Given the description of an element on the screen output the (x, y) to click on. 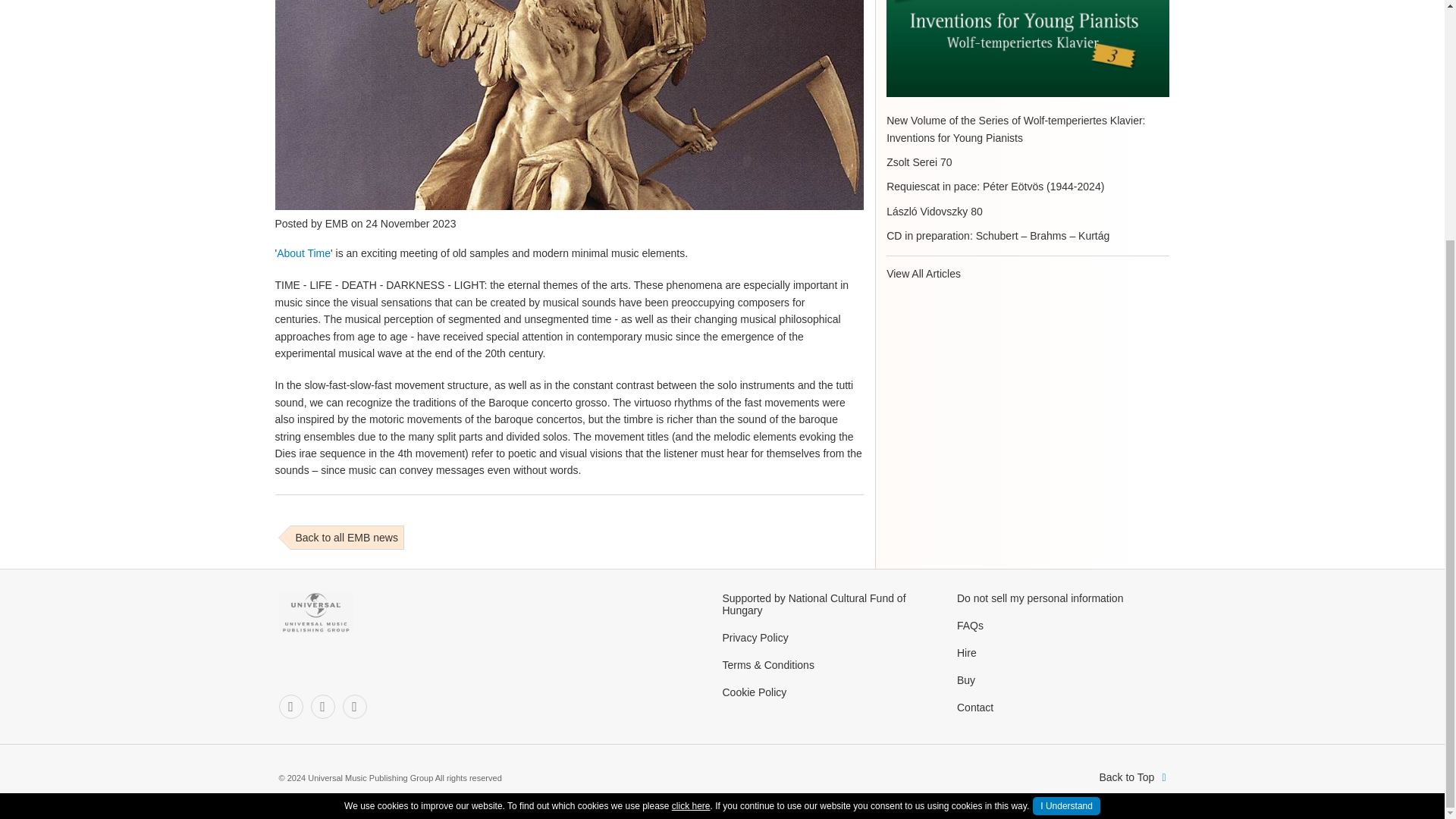
Back to all EMB news (346, 537)
About Time (303, 253)
